Given the description of an element on the screen output the (x, y) to click on. 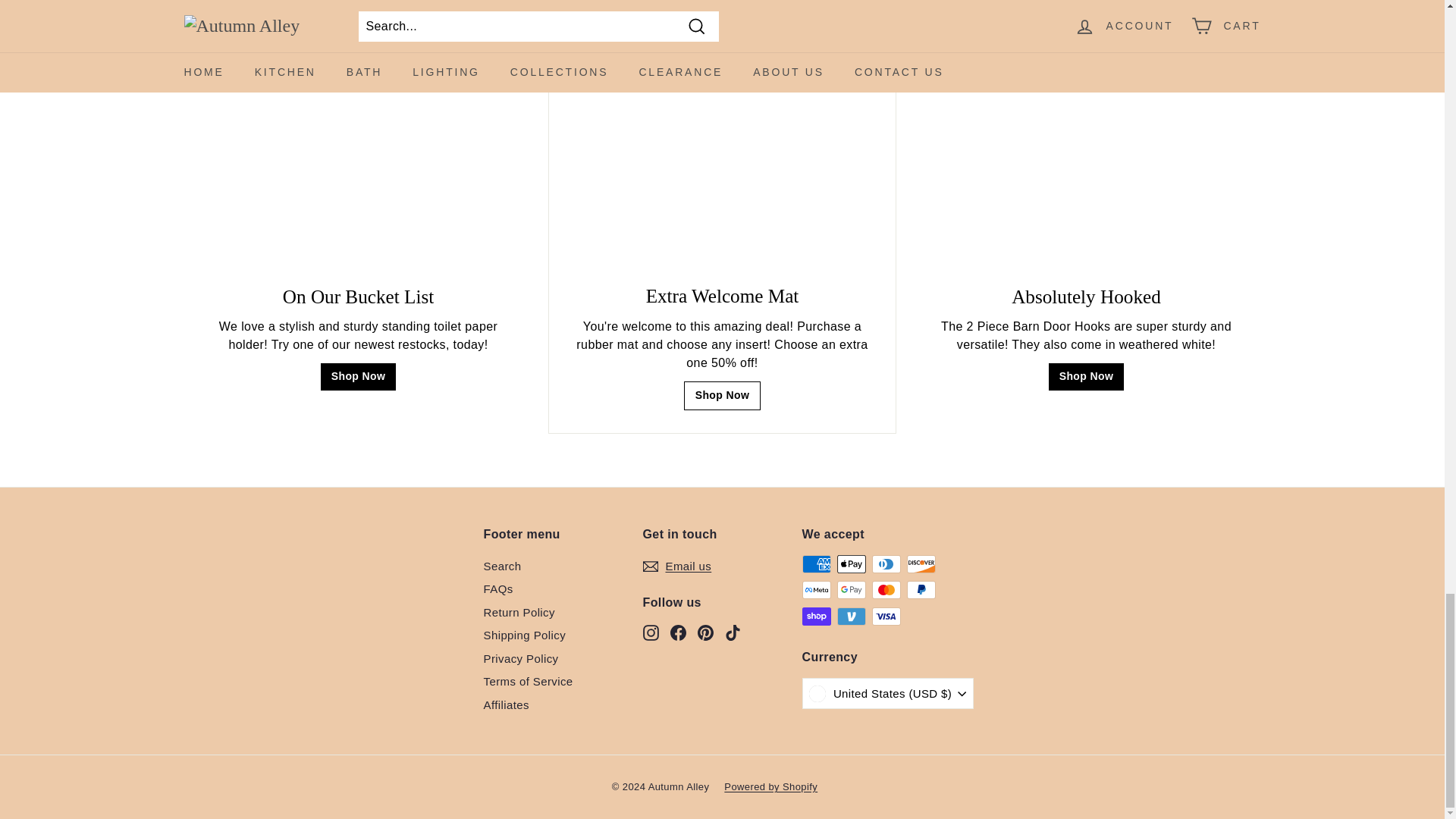
Apple Pay (851, 564)
Autumn Alley on Instagram (651, 631)
American Express (816, 564)
Autumn Alley on Facebook (677, 631)
Autumn Alley on Pinterest (705, 631)
